Given the description of an element on the screen output the (x, y) to click on. 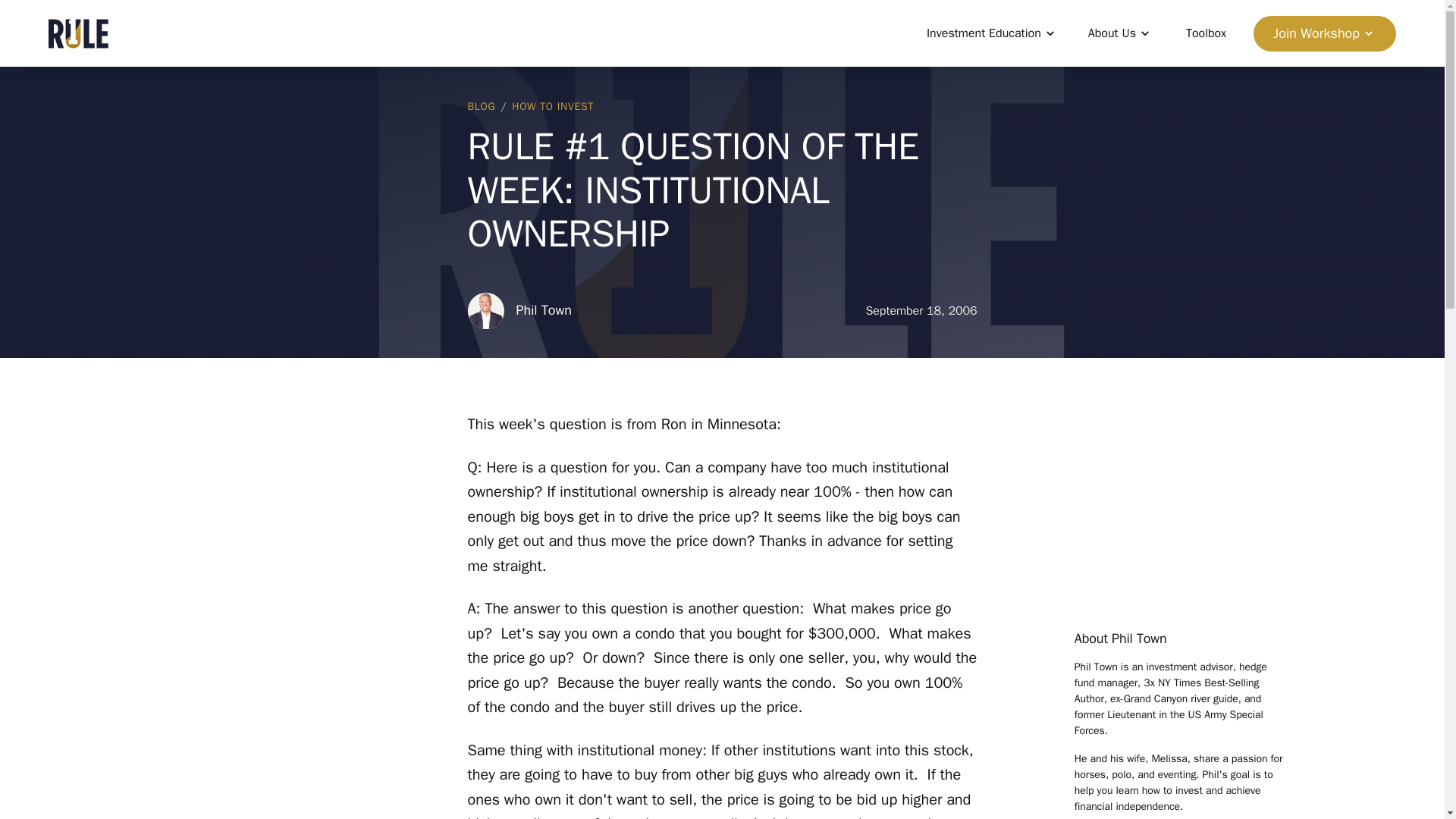
BLOG (481, 106)
Toolbox (1205, 33)
Investment Education (992, 33)
HOW TO INVEST (553, 106)
Join Workshop (1324, 32)
About Us (1119, 33)
